Given the description of an element on the screen output the (x, y) to click on. 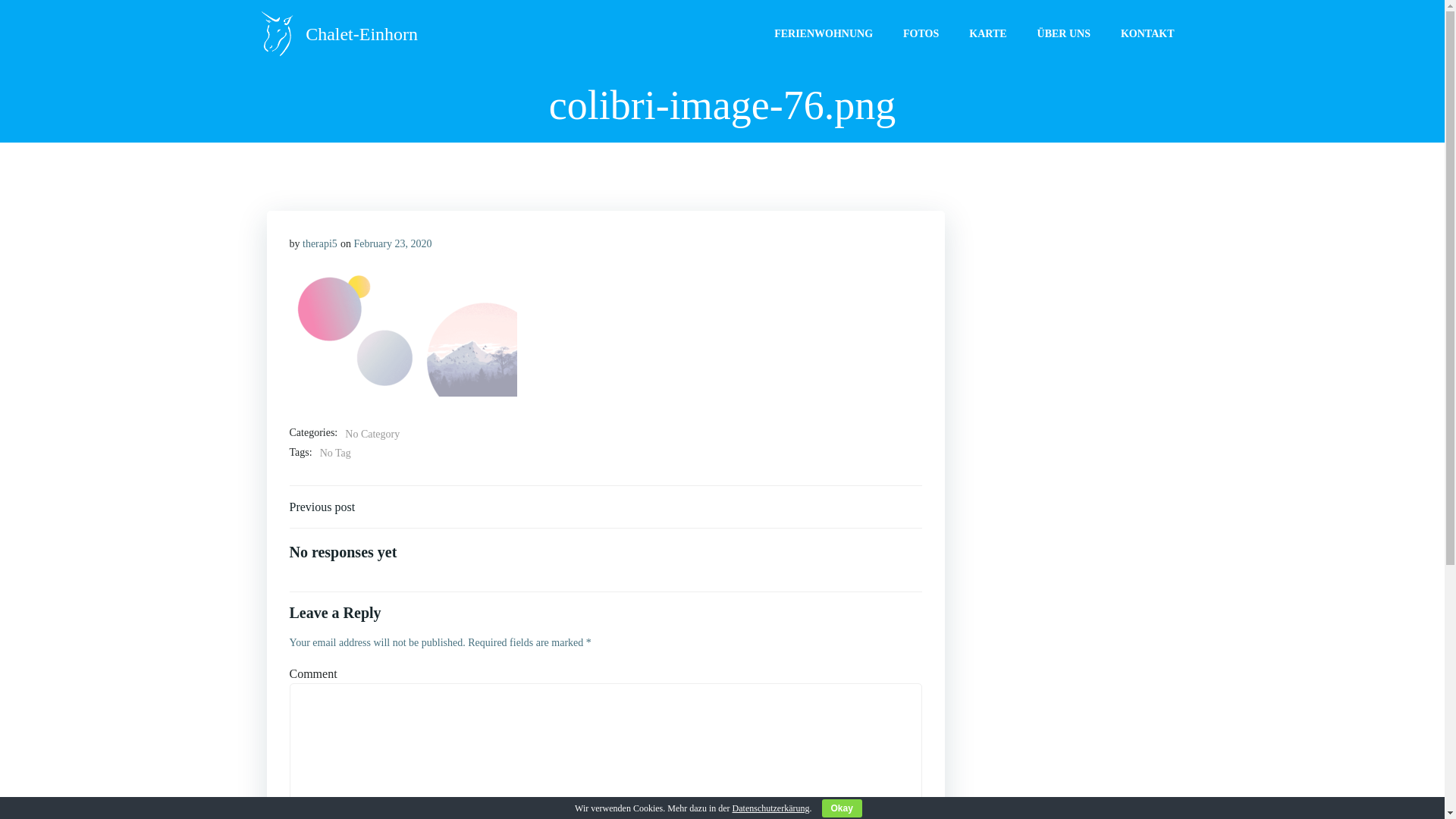
KONTAKT Element type: text (1147, 33)
FERIENWOHNUNG Element type: text (823, 33)
Previous post Element type: text (322, 507)
KARTE Element type: text (987, 33)
February 23, 2020 Element type: text (392, 243)
Okay Element type: text (842, 808)
therapi5 Element type: text (319, 243)
FOTOS Element type: text (920, 33)
Chalet-Einhorn Element type: text (335, 33)
